Given the description of an element on the screen output the (x, y) to click on. 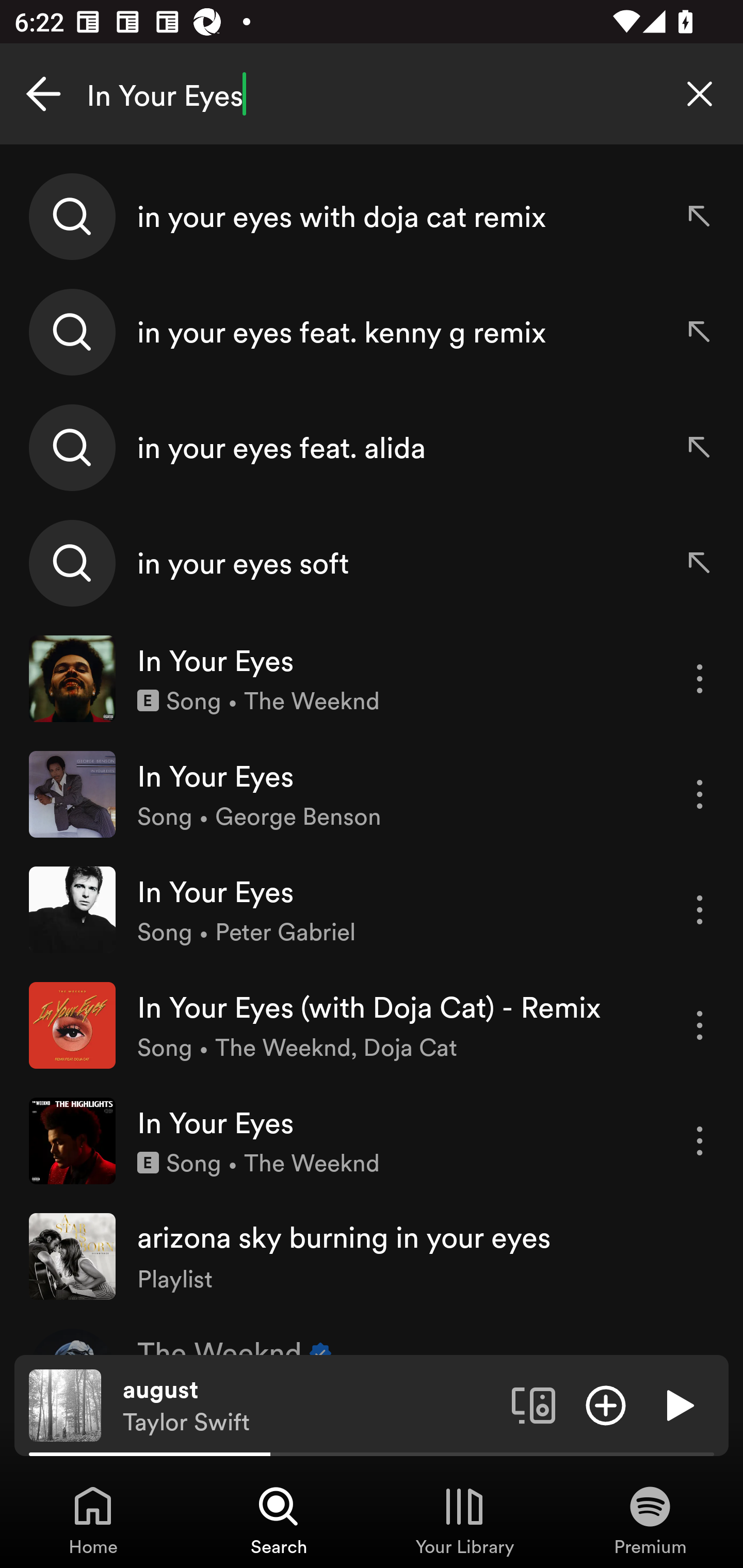
In Your Eyes (371, 93)
Cancel (43, 93)
Clear search query (699, 93)
in your eyes with doja cat remix (371, 216)
in your eyes feat. kenny g remix (371, 332)
in your eyes feat. alida (371, 447)
in your eyes soft (371, 562)
More options for song In Your Eyes (699, 678)
More options for song In Your Eyes (699, 794)
More options for song In Your Eyes (699, 910)
More options for song In Your Eyes (699, 1140)
arizona sky burning in your eyes Playlist (371, 1255)
august Taylor Swift (309, 1405)
The cover art of the currently playing track (64, 1404)
Connect to a device. Opens the devices menu (533, 1404)
Add item (605, 1404)
Play (677, 1404)
Home, Tab 1 of 4 Home Home (92, 1519)
Search, Tab 2 of 4 Search Search (278, 1519)
Your Library, Tab 3 of 4 Your Library Your Library (464, 1519)
Premium, Tab 4 of 4 Premium Premium (650, 1519)
